Given the description of an element on the screen output the (x, y) to click on. 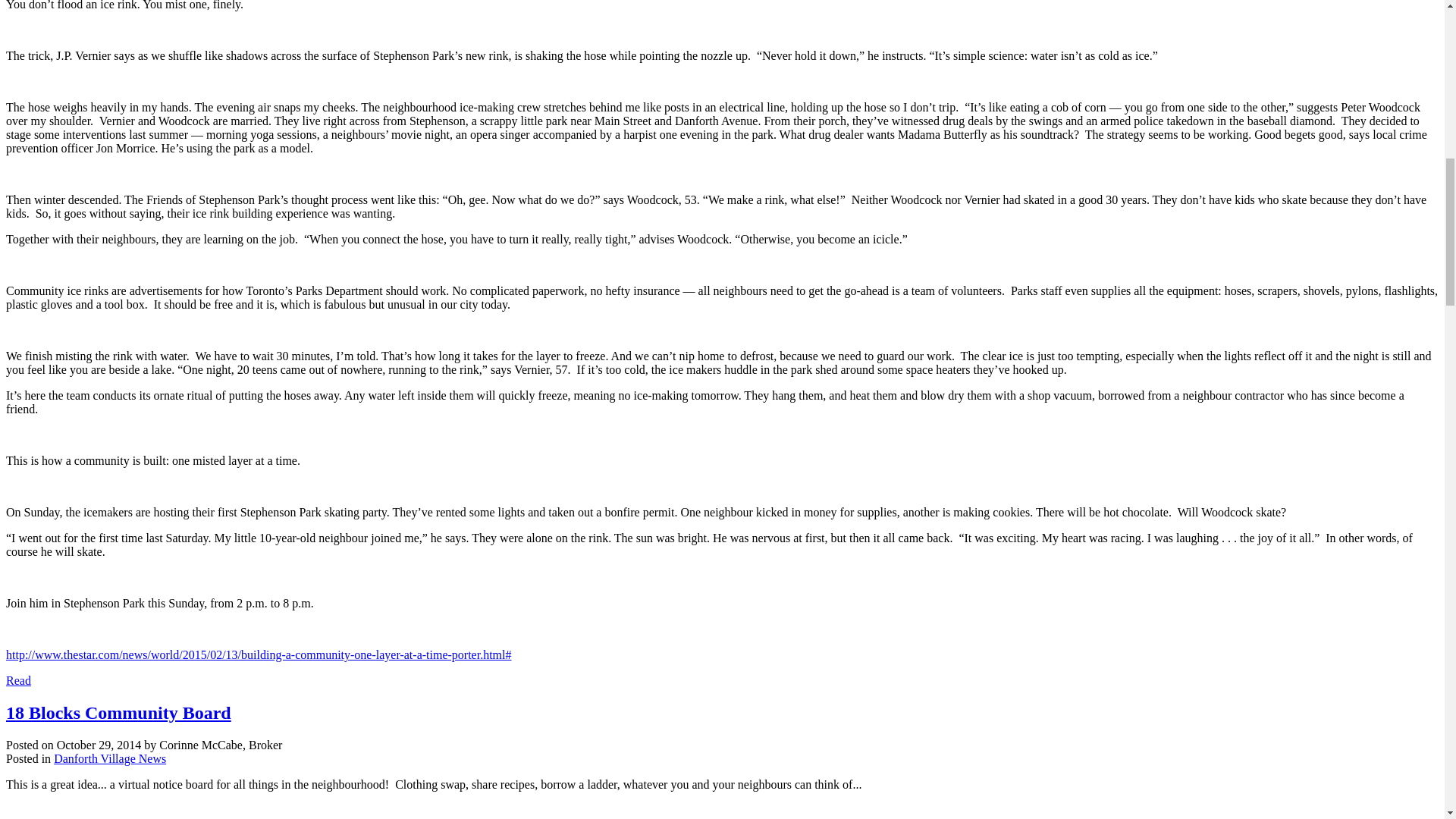
Building a Community, one layer at a time (258, 654)
